Given the description of an element on the screen output the (x, y) to click on. 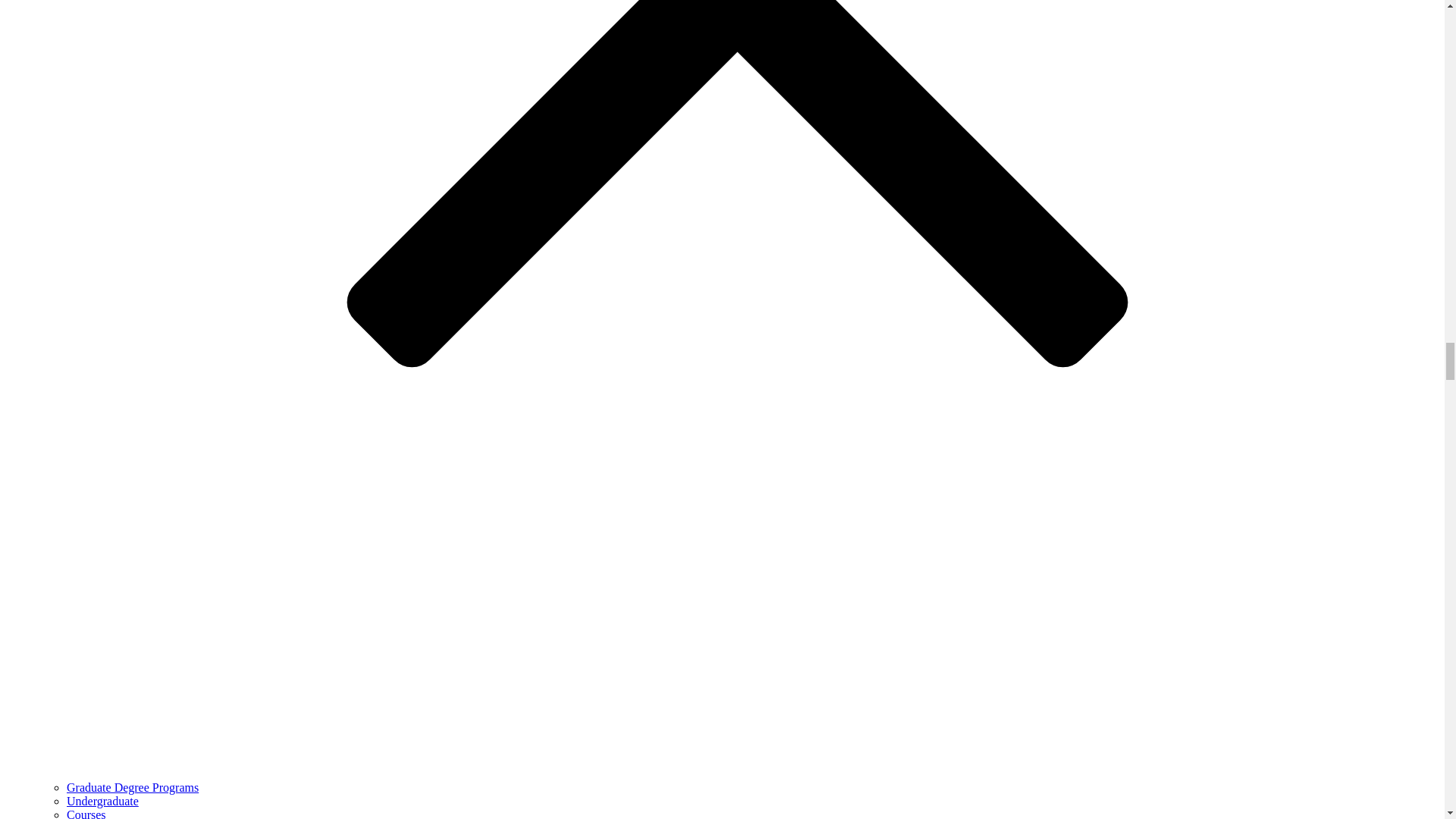
Undergraduate (102, 800)
Graduate Degree Programs (132, 787)
Courses (86, 813)
